Given the description of an element on the screen output the (x, y) to click on. 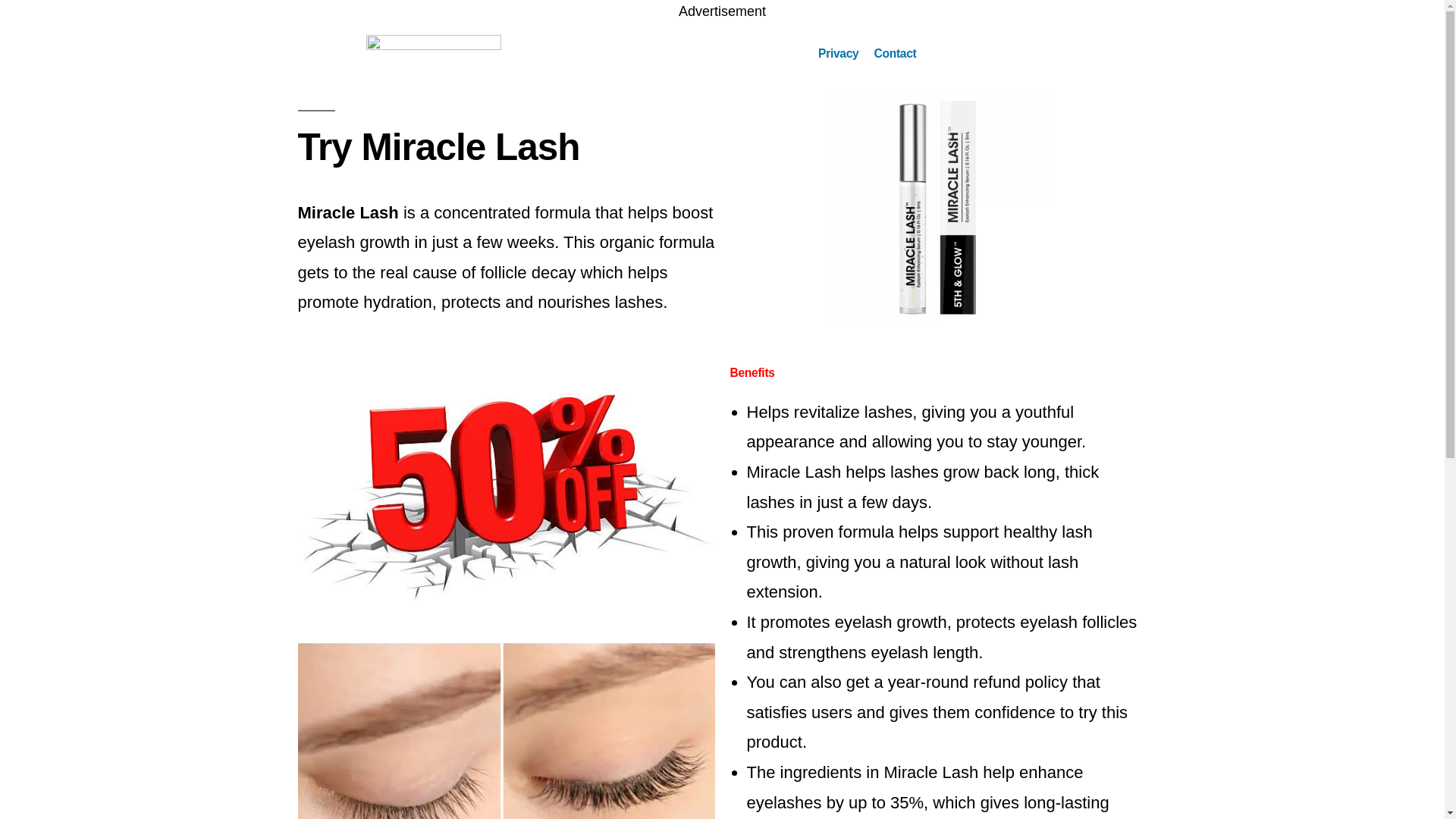
Privacy (838, 52)
Contact (894, 52)
